Given the description of an element on the screen output the (x, y) to click on. 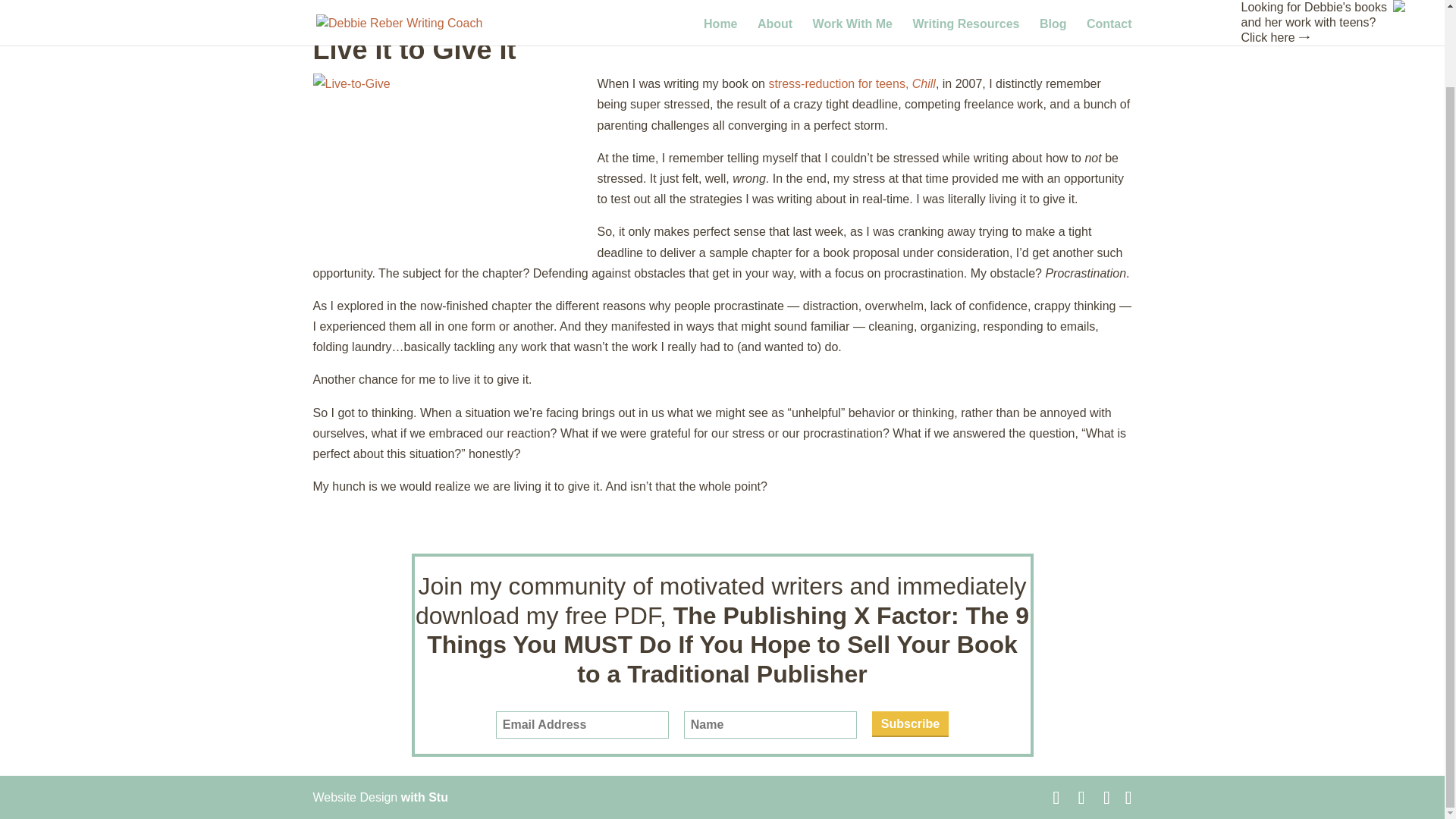
Tell your story online. (424, 797)
Subscribe (910, 724)
with Stu (424, 797)
Subscribe (910, 724)
stress-reduction for teens, Chill (852, 83)
